Given the description of an element on the screen output the (x, y) to click on. 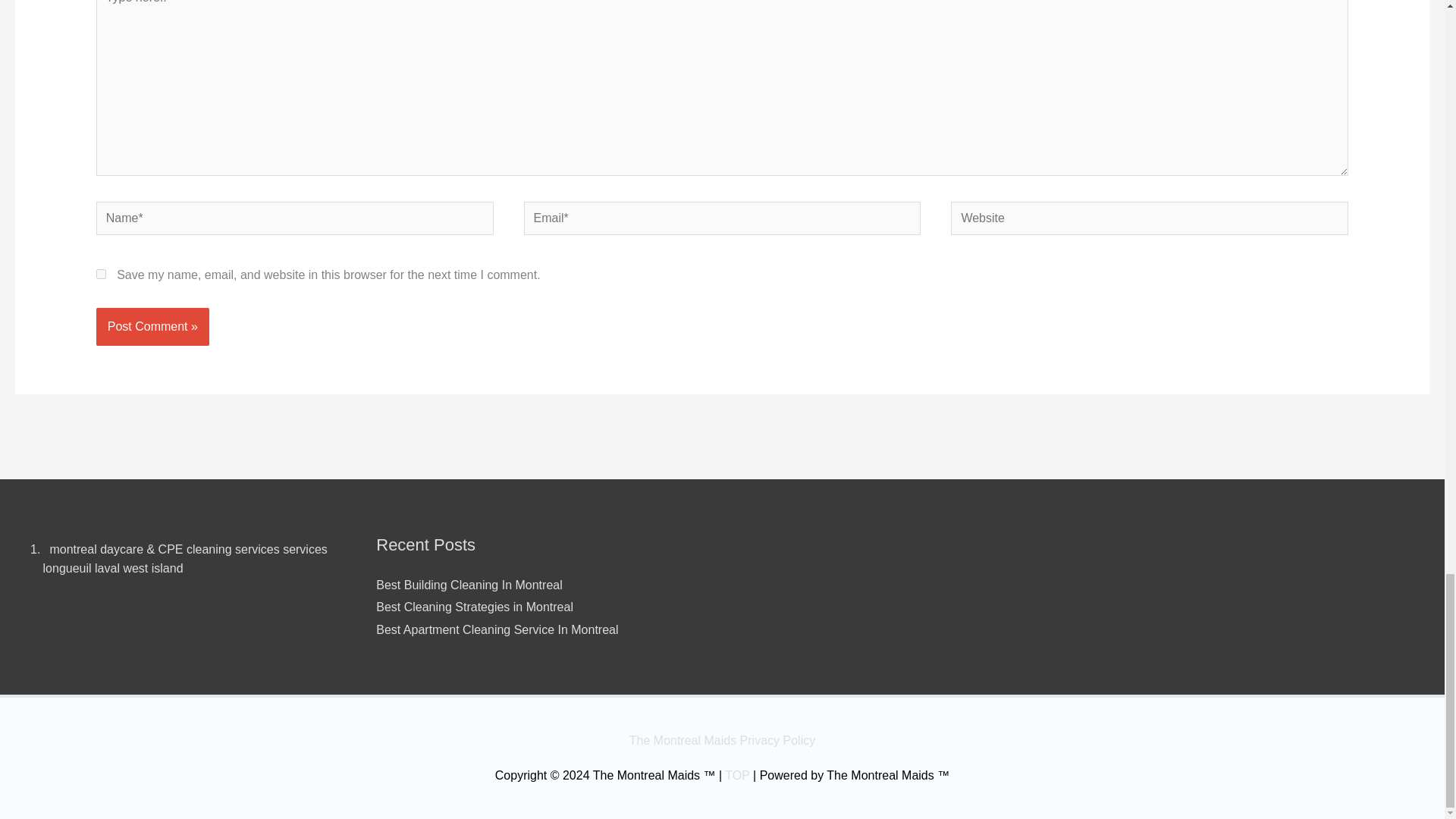
yes (101, 274)
